Given the description of an element on the screen output the (x, y) to click on. 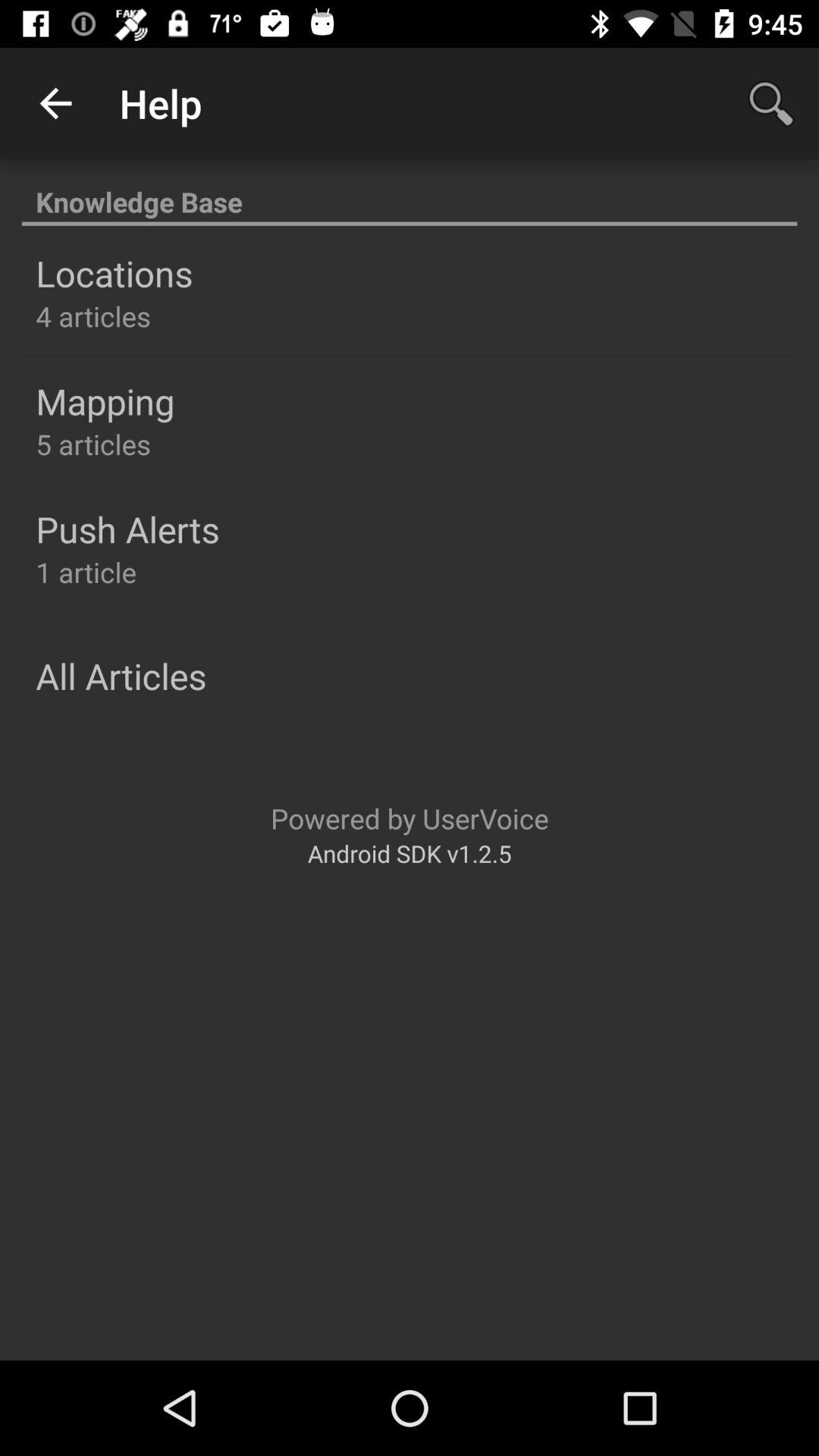
select the item below the knowledge base icon (113, 273)
